Given the description of an element on the screen output the (x, y) to click on. 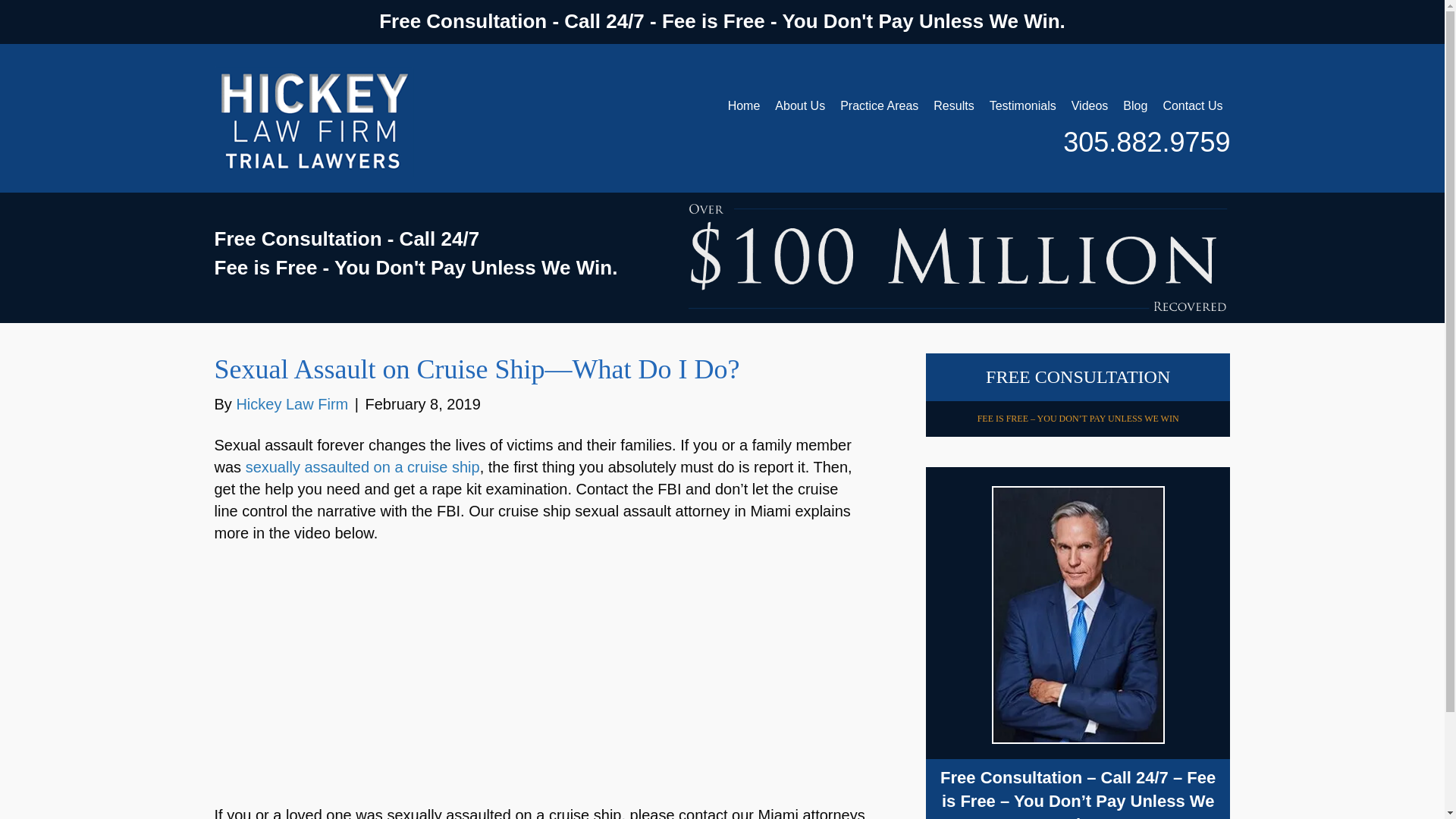
Hickey Law Firm - Trial Lawyers (313, 122)
About Us (799, 105)
Practice Areas (879, 105)
Home (744, 105)
Over 100 Million Recovered Hickey Law Firm (957, 256)
